Given the description of an element on the screen output the (x, y) to click on. 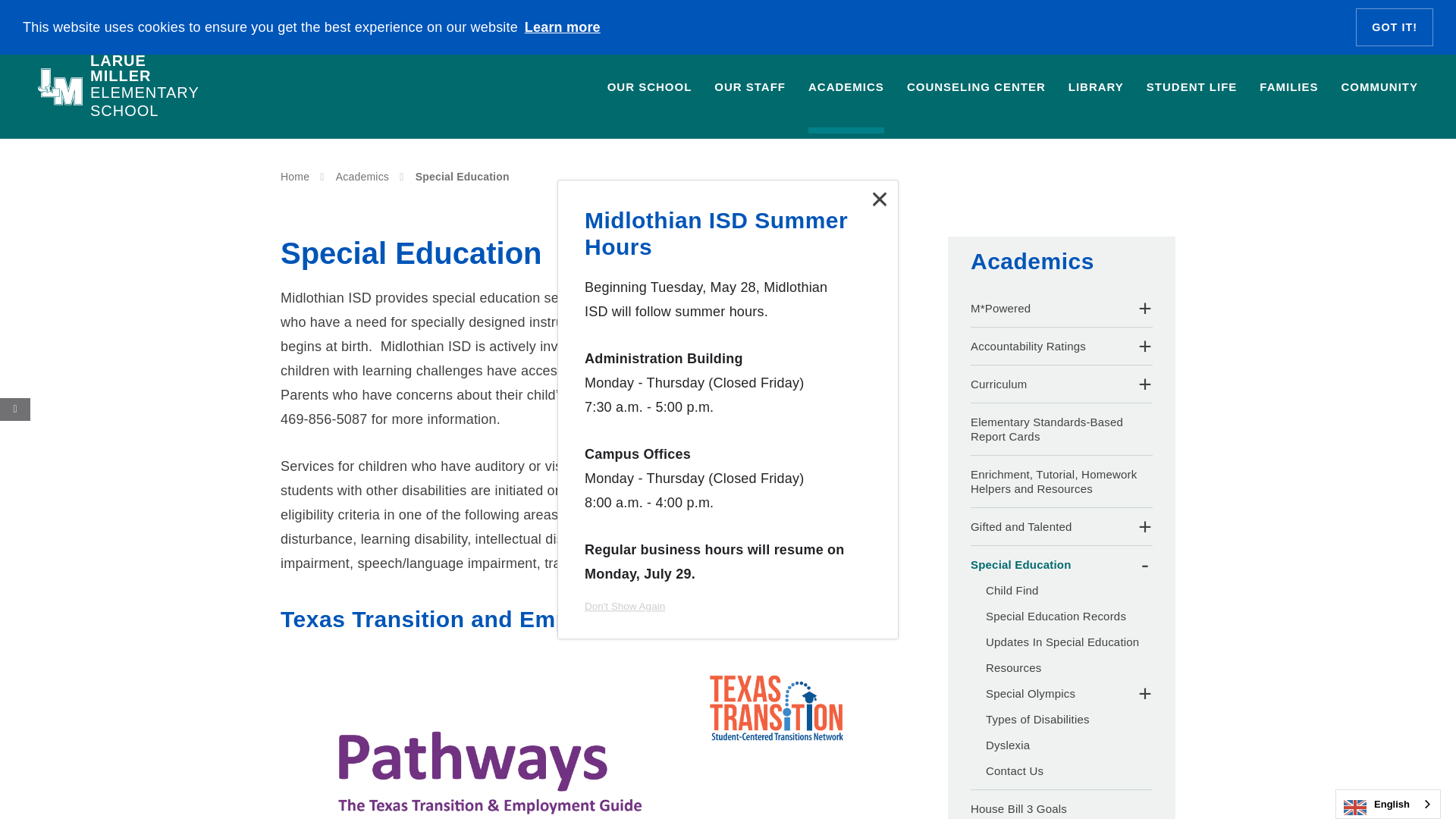
GOT IT! (1393, 26)
Learn more (561, 26)
